Given the description of an element on the screen output the (x, y) to click on. 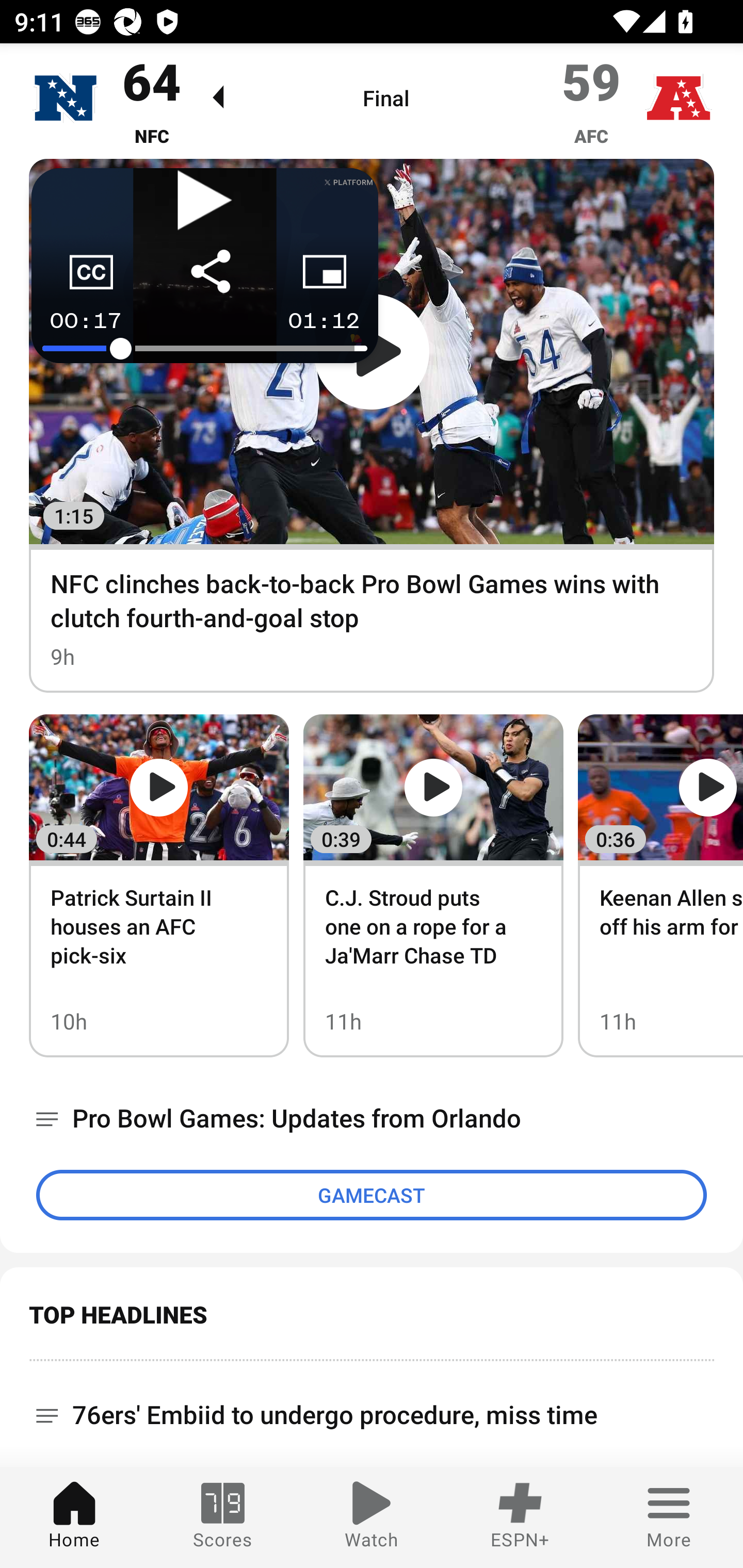
Content 64 Content  NFC Final 59 AFC Content (371, 100)
 Pro Bowl Games: Updates from Orlando (371, 1118)
GAMECAST (371, 1194)
 76ers' Embiid to undergo procedure, miss time (371, 1408)
Scores (222, 1517)
Watch (371, 1517)
ESPN+ (519, 1517)
More (668, 1517)
